Given the description of an element on the screen output the (x, y) to click on. 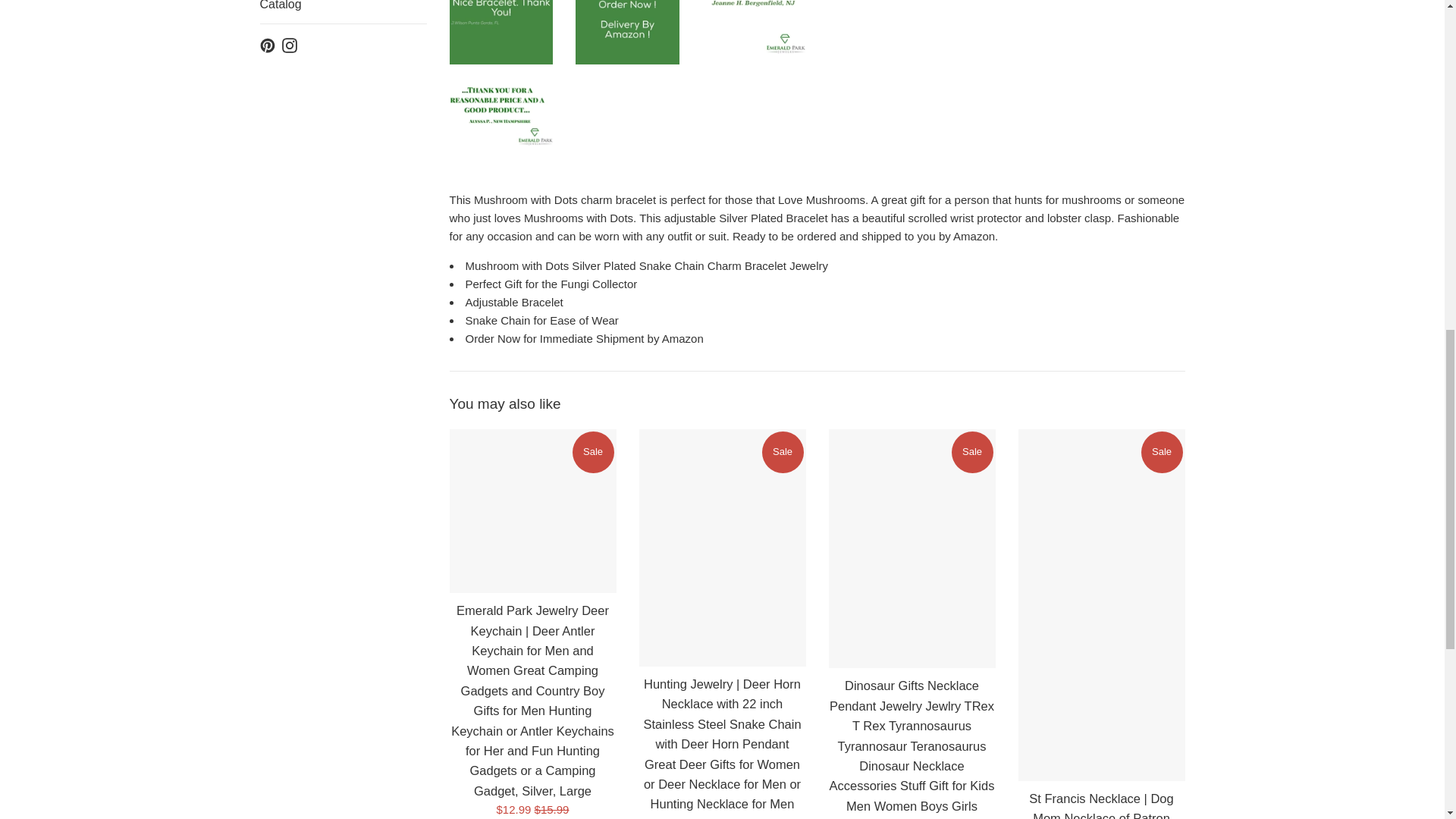
Shop Pay (1138, 787)
Pinterest (267, 256)
Occasions (342, 25)
Diners Club (973, 787)
Sports (342, 178)
Nationality (342, 3)
Instagram (289, 256)
Dave The Bunny on Instagram (289, 256)
Religion (342, 140)
Visa (1170, 787)
Plants (342, 102)
Dave The Bunny on Pinterest (267, 256)
Catalog (342, 217)
PayPal (1104, 787)
Apple Pay (942, 787)
